Given the description of an element on the screen output the (x, y) to click on. 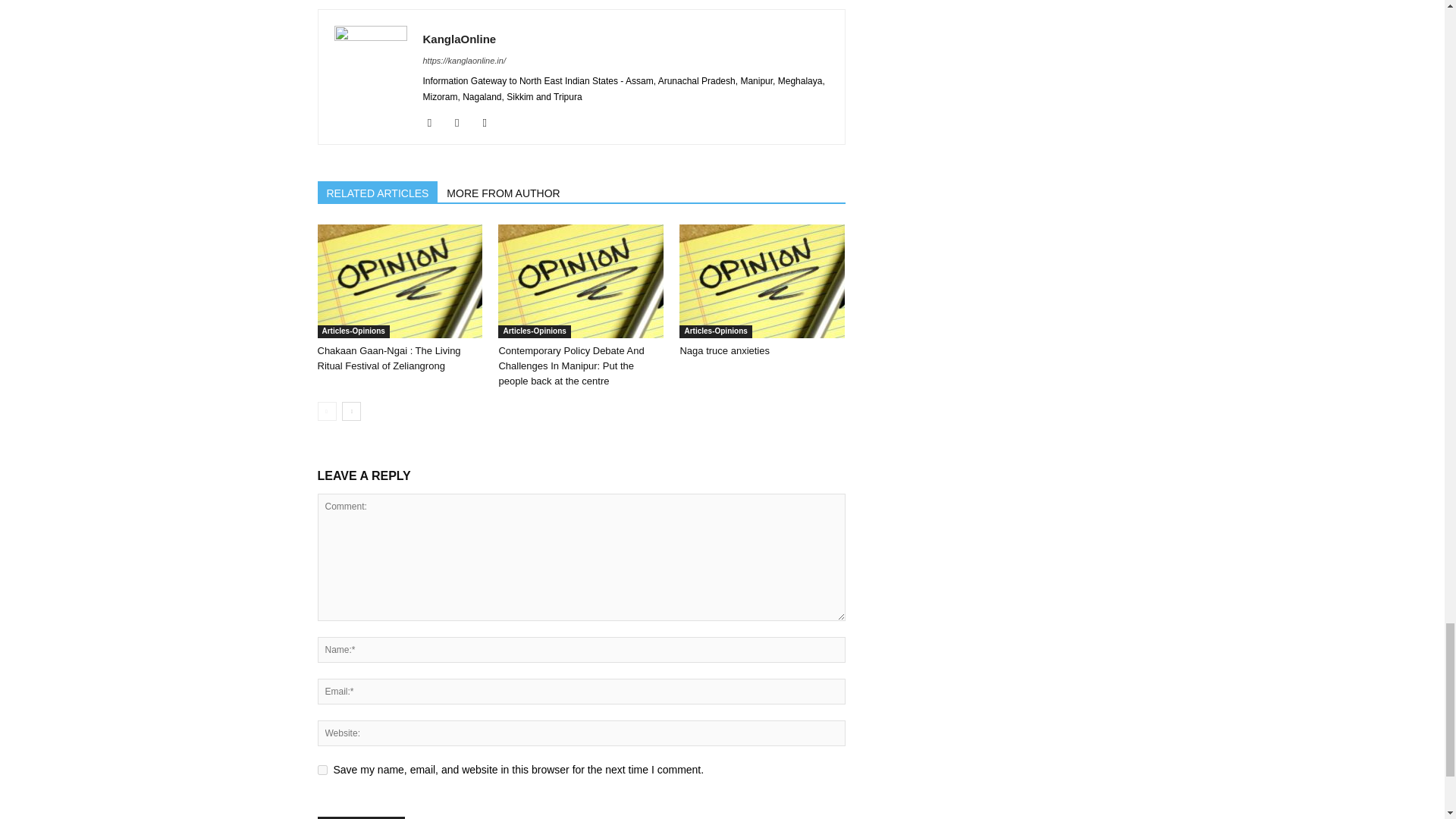
Post Comment (360, 817)
Facebook (435, 122)
Twitter (489, 122)
yes (321, 769)
